Given the description of an element on the screen output the (x, y) to click on. 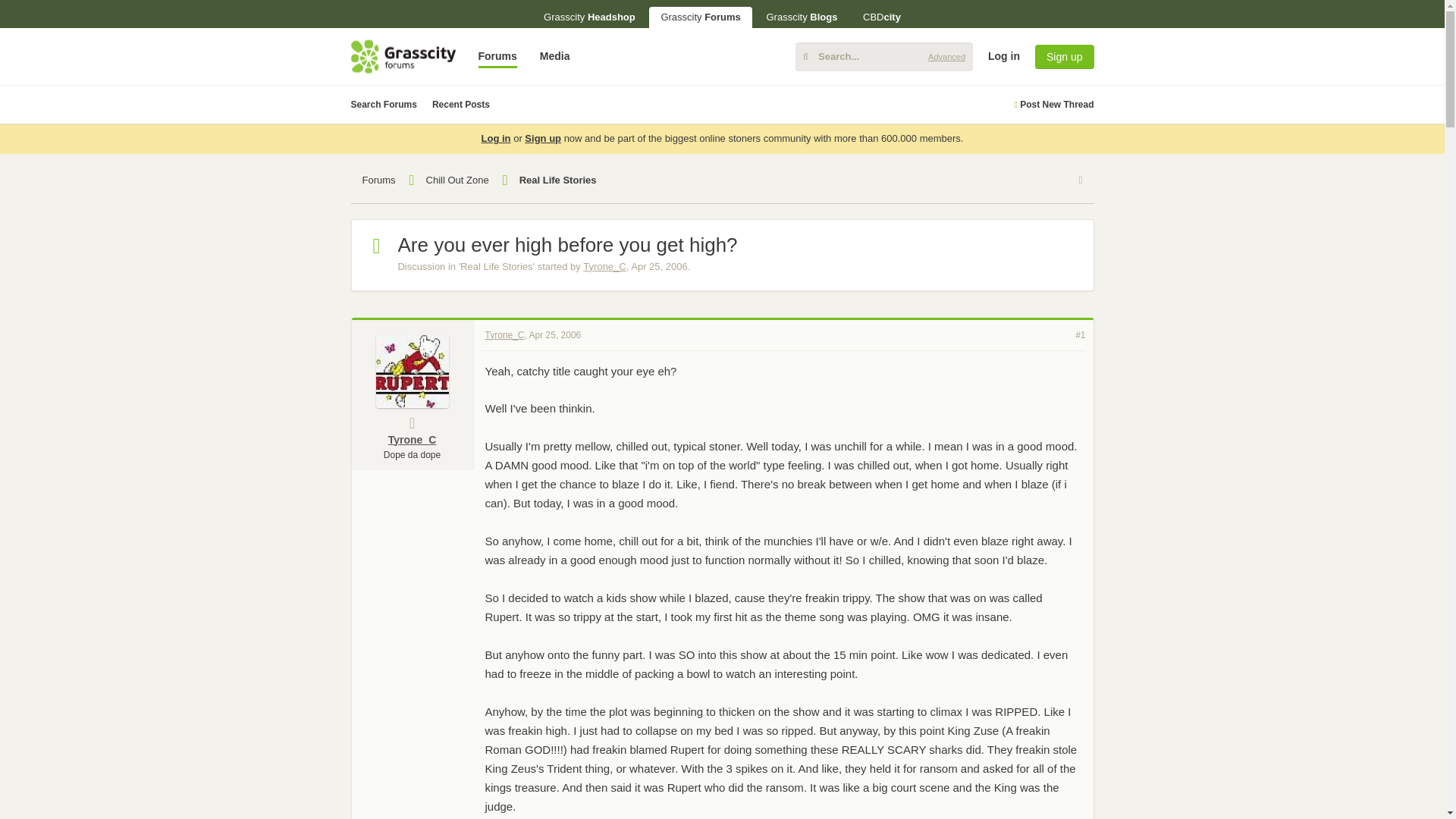
Log in (496, 138)
Permalink (554, 334)
Grasscity Blogs (801, 16)
Enter your search and hit enter (883, 56)
Advanced (946, 56)
Media (554, 56)
CBDcity (881, 16)
Recent Posts (460, 104)
Sign up (1064, 56)
Grasscity Forums (700, 16)
Search Forums (383, 104)
Apr 25, 2006 at 4:37 PM (658, 266)
Grasscity Headshop (589, 16)
Forums (497, 56)
Log in (1316, 172)
